Given the description of an element on the screen output the (x, y) to click on. 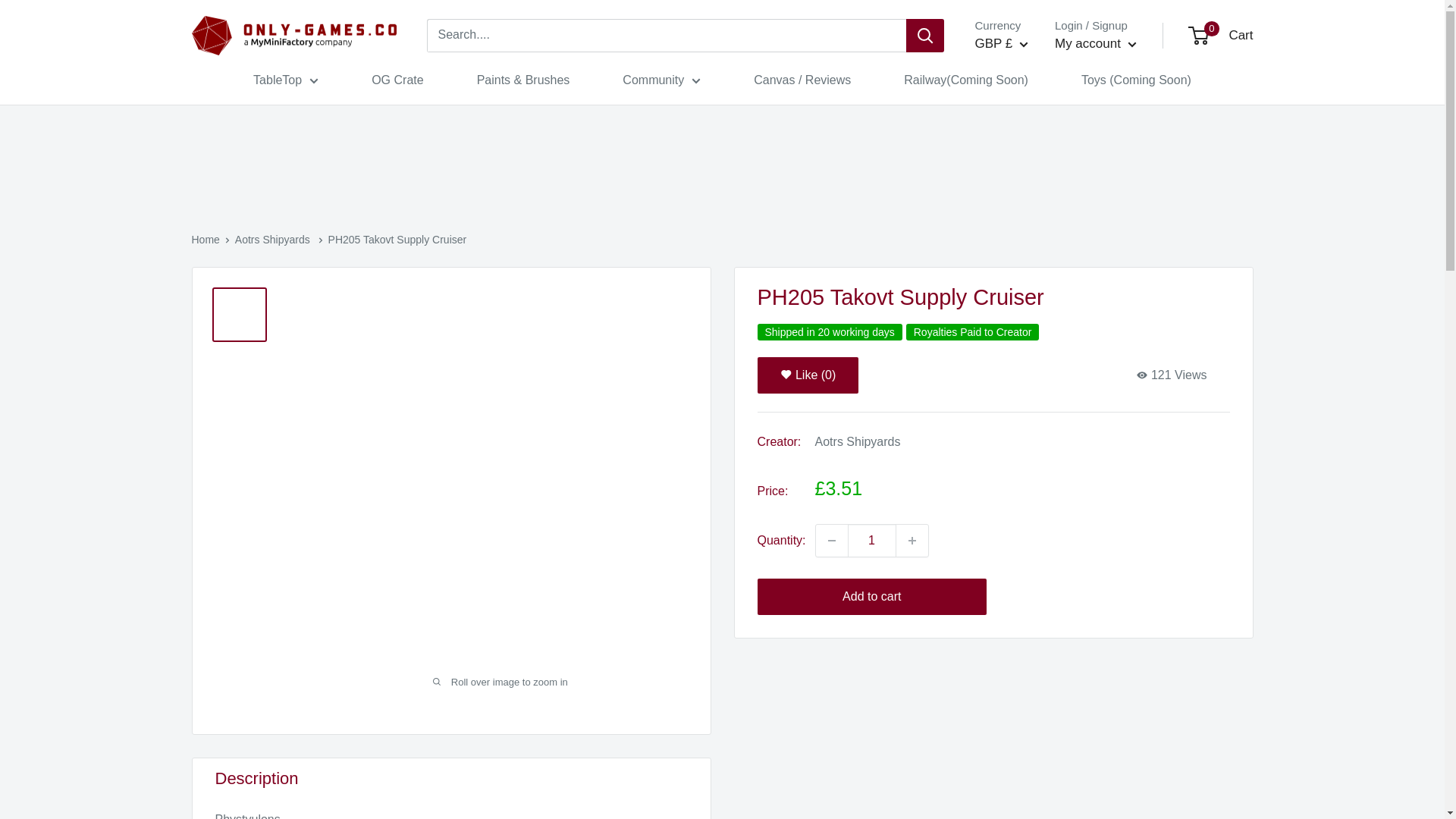
Only-Games (293, 35)
1 (871, 540)
My account (1095, 43)
EUR (1016, 135)
Decrease quantity by 1 (831, 540)
DKK (1016, 112)
USD (1016, 181)
Increase quantity by 1 (912, 540)
GBP (1016, 158)
AUD (1016, 88)
